Given the description of an element on the screen output the (x, y) to click on. 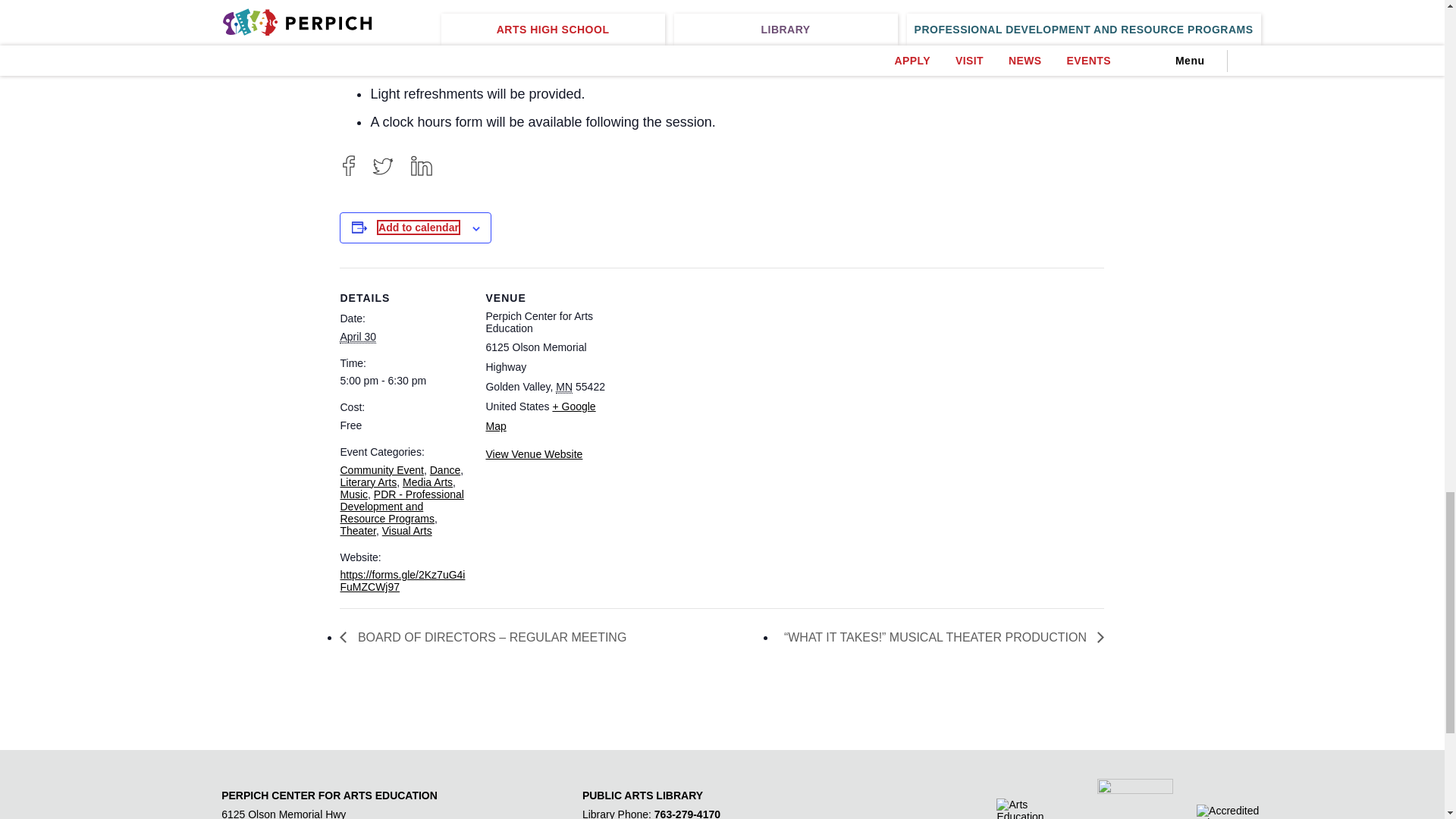
Click to view a Google Map (539, 416)
LinkedIn (421, 165)
Community Event (381, 469)
Add to calendar (418, 227)
2024-04-30 (403, 380)
Minnesota (564, 386)
2024-04-30 (357, 336)
Twitter (382, 165)
